Given the description of an element on the screen output the (x, y) to click on. 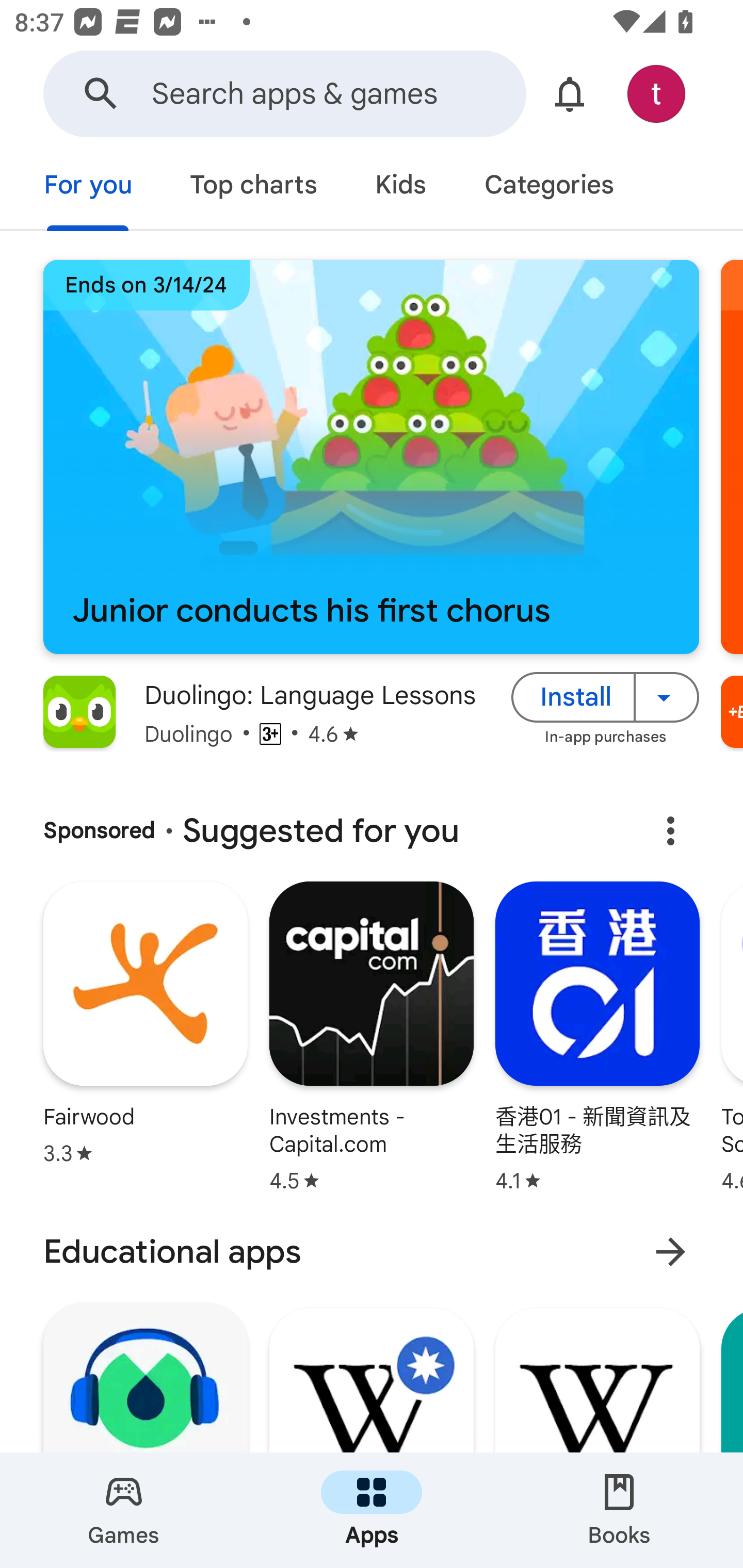
Search Google Play Search apps & games (284, 93)
Search Google Play (100, 93)
Show notifications and offers. (569, 93)
Top charts (253, 187)
Kids (400, 187)
Categories (548, 187)
Junior conducts his first chorus Ends on 3/14/24 (371, 456)
Install Install Install on more devices (605, 696)
Install on more devices (666, 696)
About this ad (670, 830)
Fairwood
Star rating: 3.3
 (145, 1025)
Investments - Capital.com
Star rating: 4.5
 (371, 1038)
香港01 - 新聞資訊及生活服務
Star rating: 4.1
 (597, 1038)
Educational apps More results for Educational apps (371, 1252)
More results for Educational apps (670, 1251)
Games (123, 1509)
Books (619, 1509)
